Given the description of an element on the screen output the (x, y) to click on. 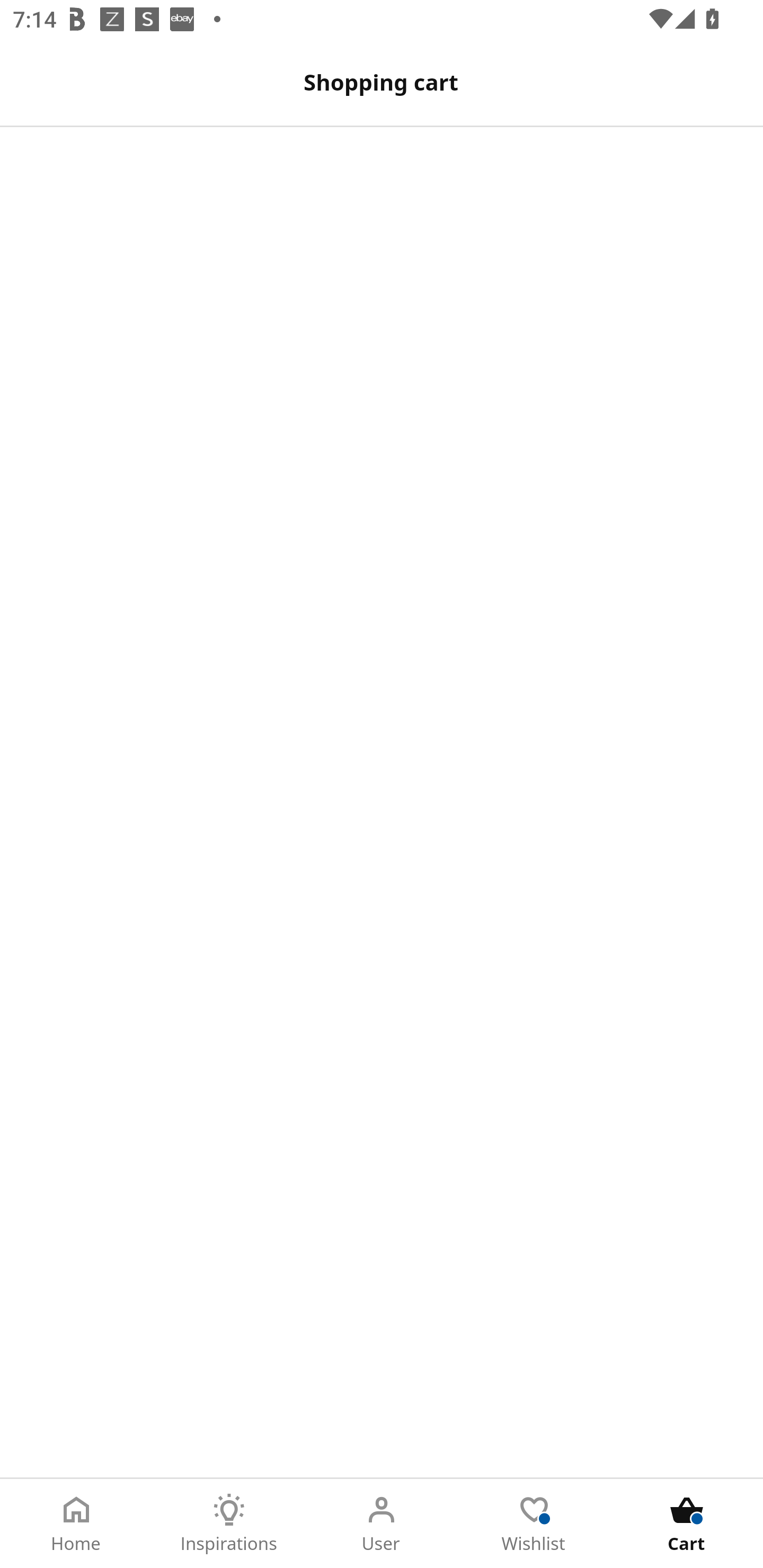
Home
Tab 1 of 5 (76, 1522)
Inspirations
Tab 2 of 5 (228, 1522)
User
Tab 3 of 5 (381, 1522)
Wishlist
Tab 4 of 5 (533, 1522)
Cart
Tab 5 of 5 (686, 1522)
